Given the description of an element on the screen output the (x, y) to click on. 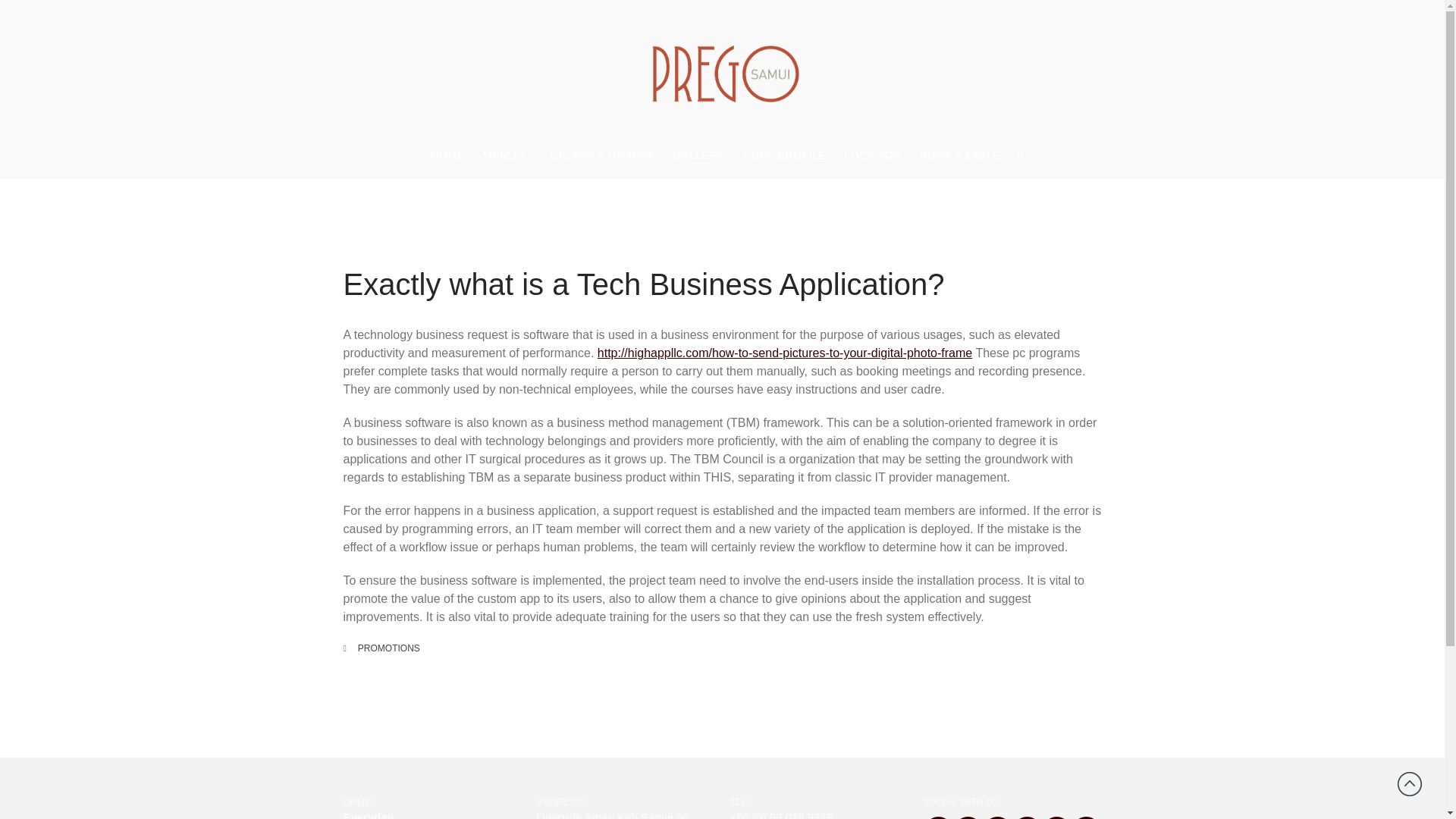
LOCATION (871, 155)
HOME (447, 155)
CHEF PROFILE (783, 155)
MENUS (508, 155)
Prego Samui (686, 142)
GALLERY (698, 155)
BOOK A TABLE (959, 155)
Search (1356, 487)
View all posts in PROMOTIONS (389, 647)
